Given the description of an element on the screen output the (x, y) to click on. 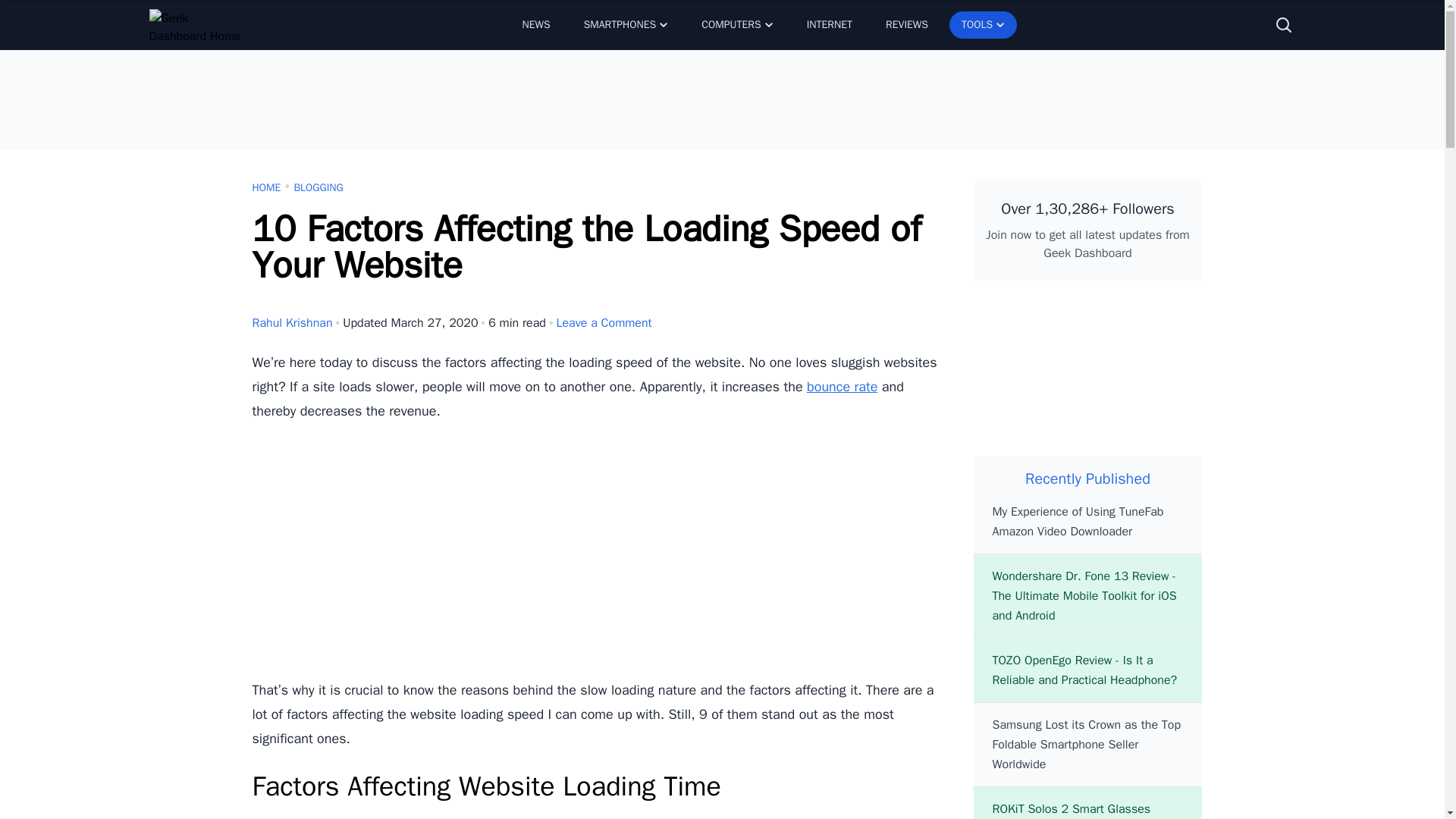
Rahul Krishnan (291, 322)
bounce rate (841, 386)
Follow Geek Dashboard on Instagram (1163, 375)
Follow Geek Dashbaord on Twitter (1087, 311)
COMPUTERS (736, 24)
INTERNET (829, 24)
Subscribe to Geek Dashboard on YouTube (1087, 375)
NEWS (535, 24)
Follow Geek Dashboard on Pinterest (1011, 375)
TOOLS (982, 24)
Like Geek Dashboard Page on Facebook (1011, 311)
HOME (266, 187)
Leave a Comment (603, 322)
BLOGGING (318, 187)
REVIEWS (906, 24)
